Given the description of an element on the screen output the (x, y) to click on. 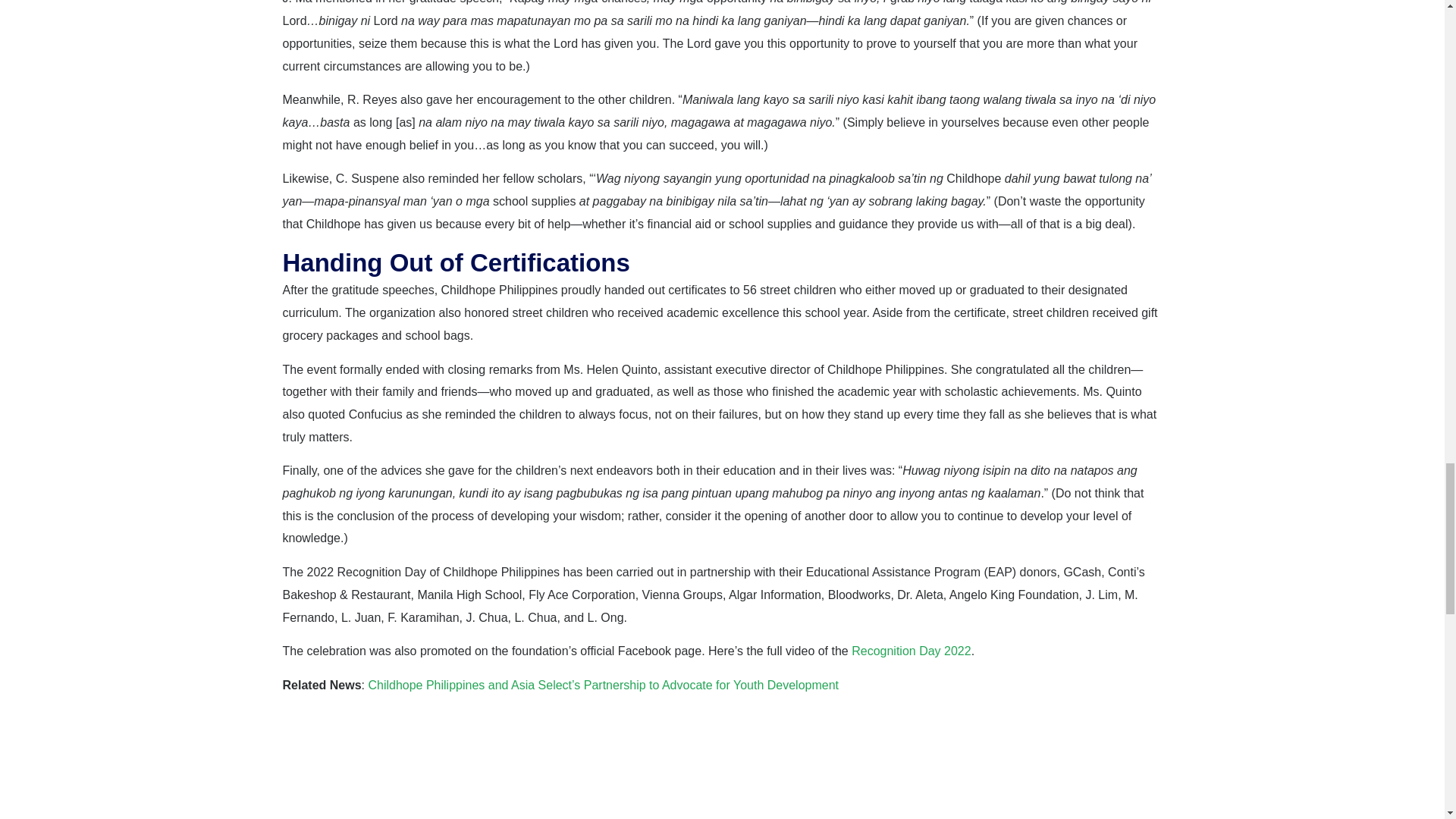
Recognition Day 2022 (911, 650)
